Given the description of an element on the screen output the (x, y) to click on. 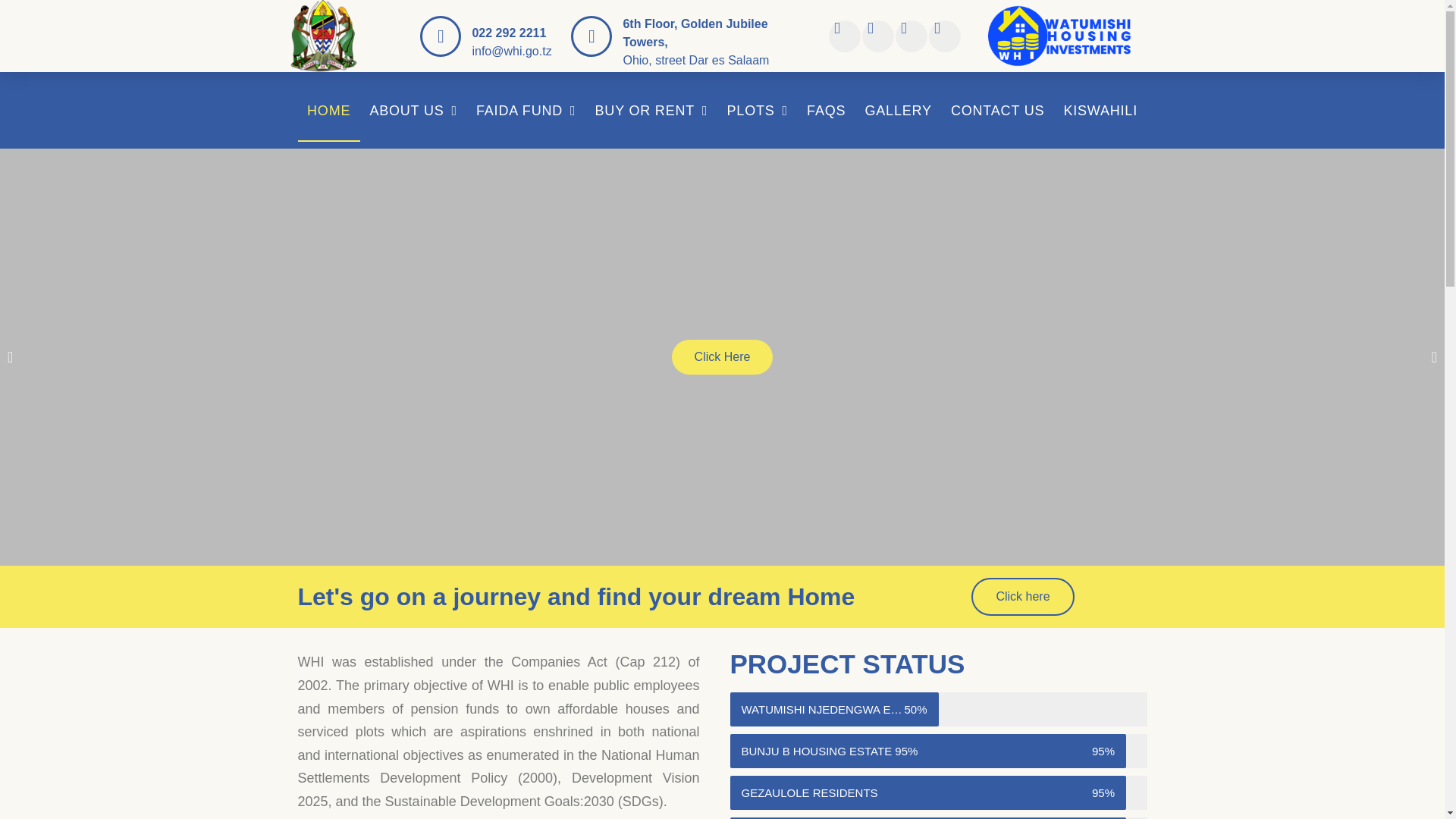
ABOUT US (413, 110)
BUY OR RENT (651, 110)
HOME (328, 110)
FAIDA FUND (525, 110)
